Given the description of an element on the screen output the (x, y) to click on. 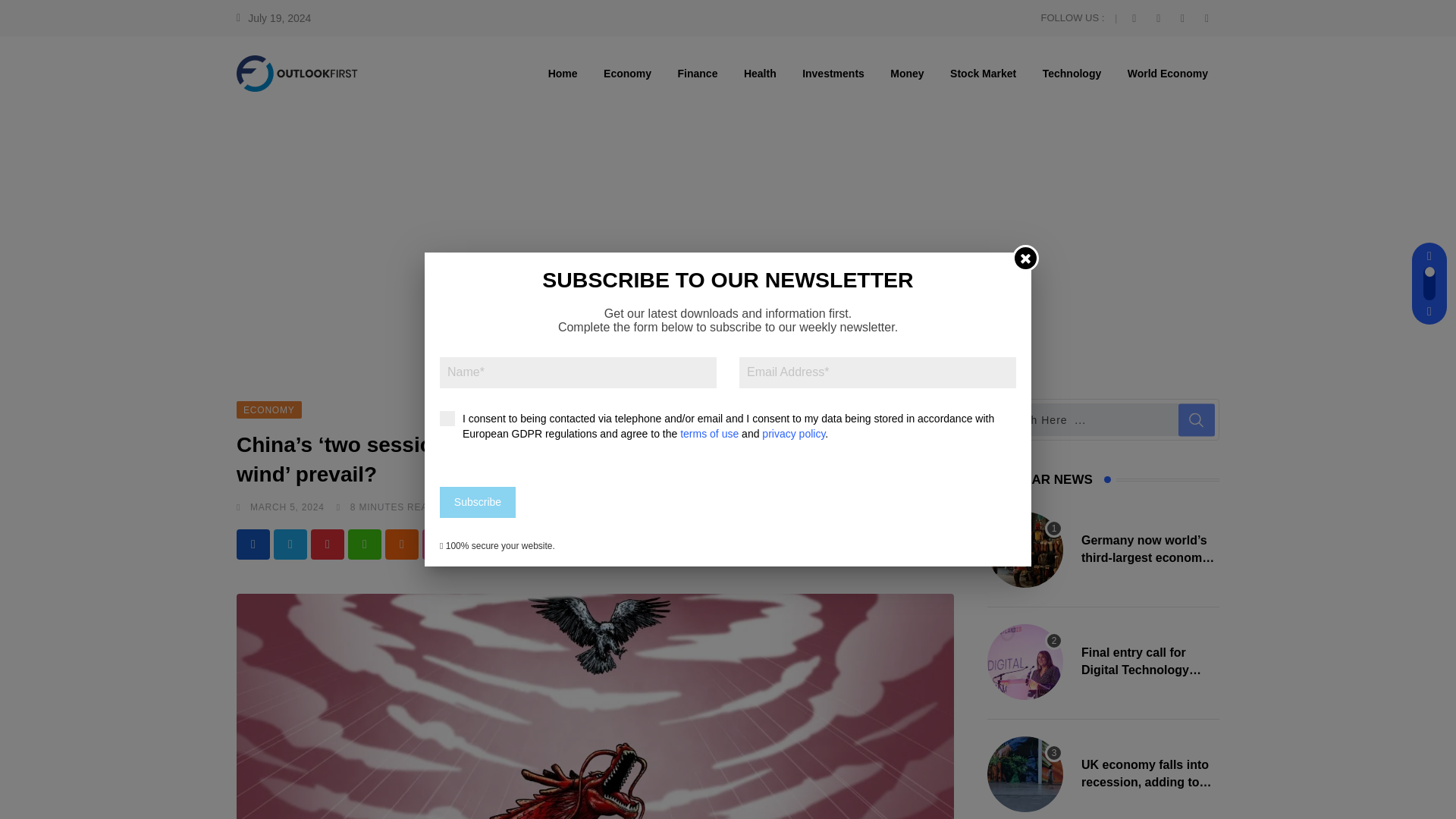
Final entry call for Digital Technology Awards 2024 (1024, 662)
Economy (627, 73)
ECONOMY (268, 408)
World Economy (1168, 73)
Investments (833, 73)
Share via Email (895, 544)
Print (933, 544)
StumbleUpon (438, 544)
Pinterest (327, 544)
Whatsapp (364, 544)
Cloud (402, 544)
Technology (1071, 73)
Stock Market (983, 73)
